Given the description of an element on the screen output the (x, y) to click on. 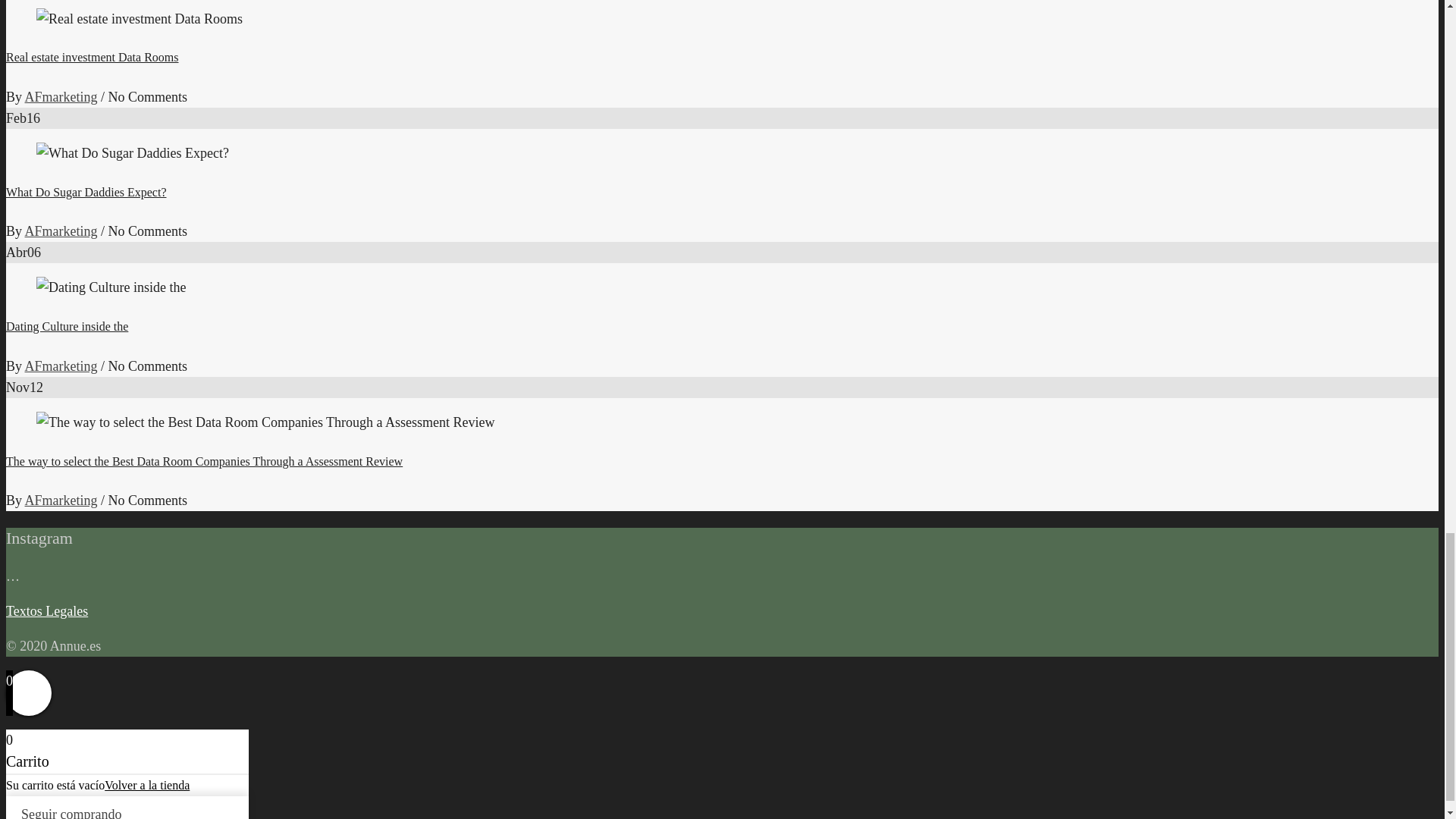
What Do Sugar Daddies Expect? (85, 192)
AFmarketing (60, 231)
AFmarketing (60, 365)
Dating Culture inside the (66, 326)
AFmarketing (60, 500)
Textos Legales (46, 611)
Real estate investment Data Rooms (92, 56)
AFmarketing (60, 96)
Volver a la tienda (146, 784)
